Given the description of an element on the screen output the (x, y) to click on. 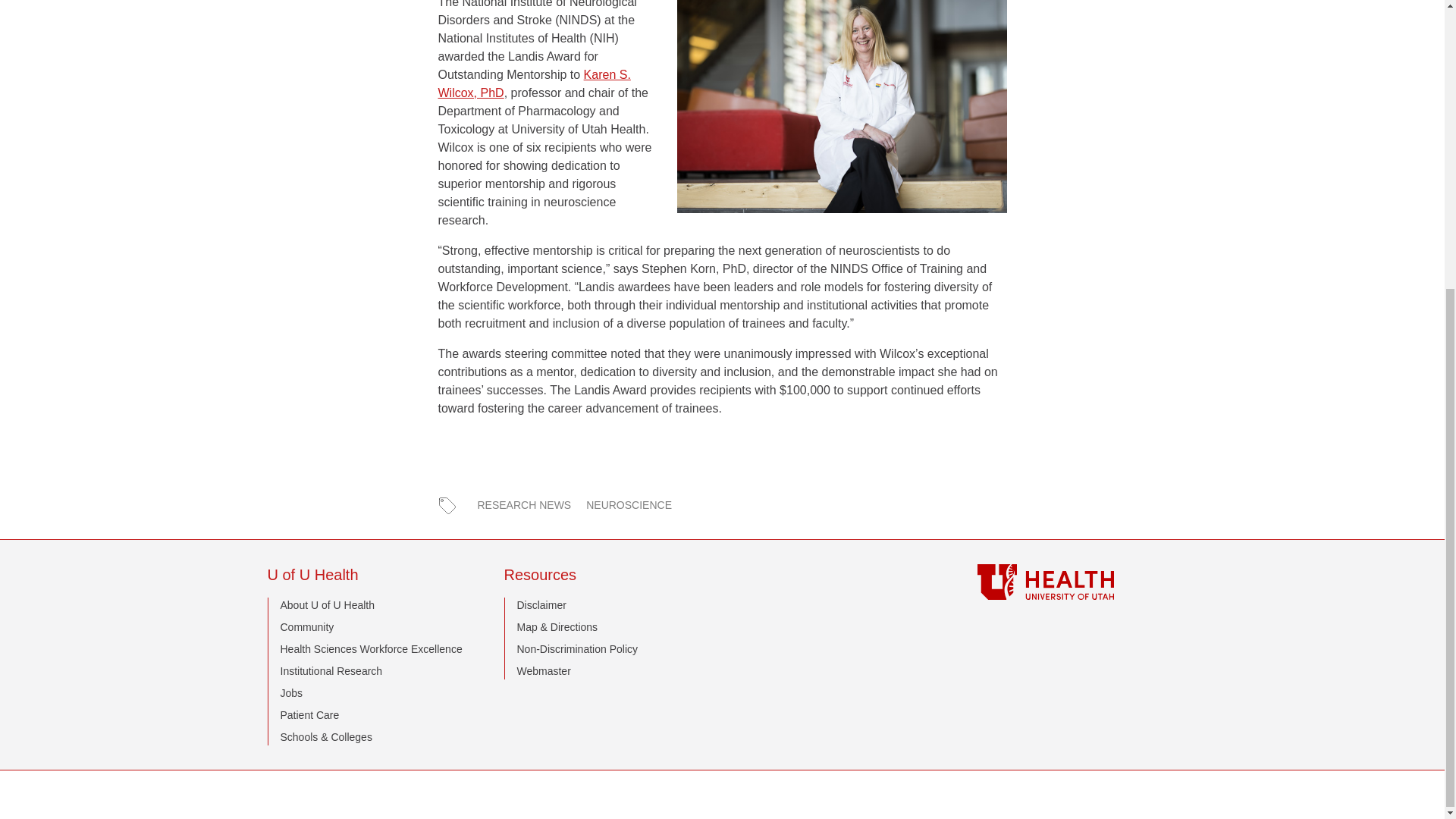
University of Utah Healthcare (1076, 581)
